Given the description of an element on the screen output the (x, y) to click on. 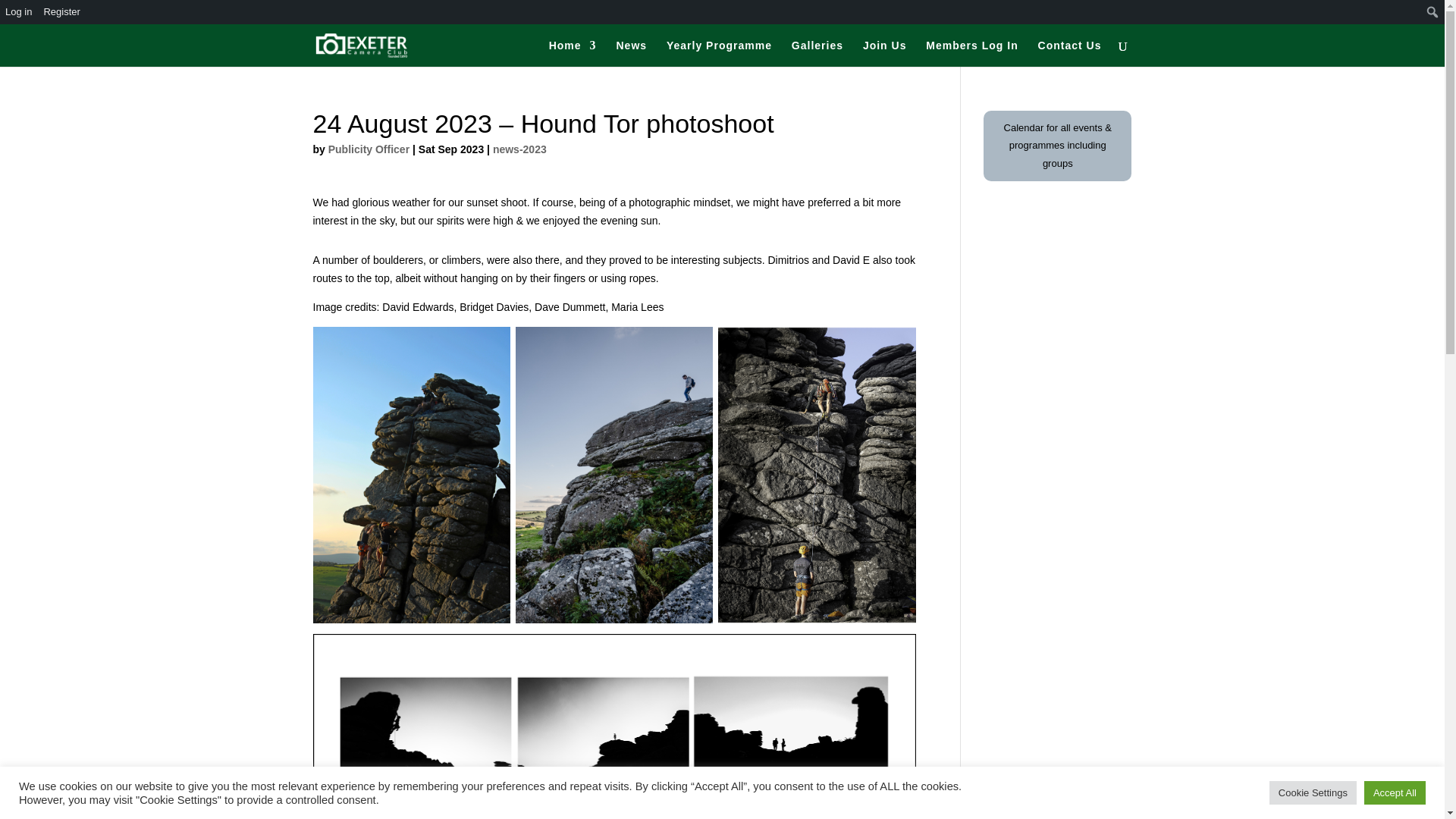
Join Us (885, 53)
Contact Us (1070, 53)
Yearly Programme (718, 53)
Search (16, 13)
Accept All (1394, 792)
Galleries (817, 53)
News (630, 53)
Home (572, 53)
Posts by Publicity Officer (369, 149)
news-2023 (520, 149)
